Given the description of an element on the screen output the (x, y) to click on. 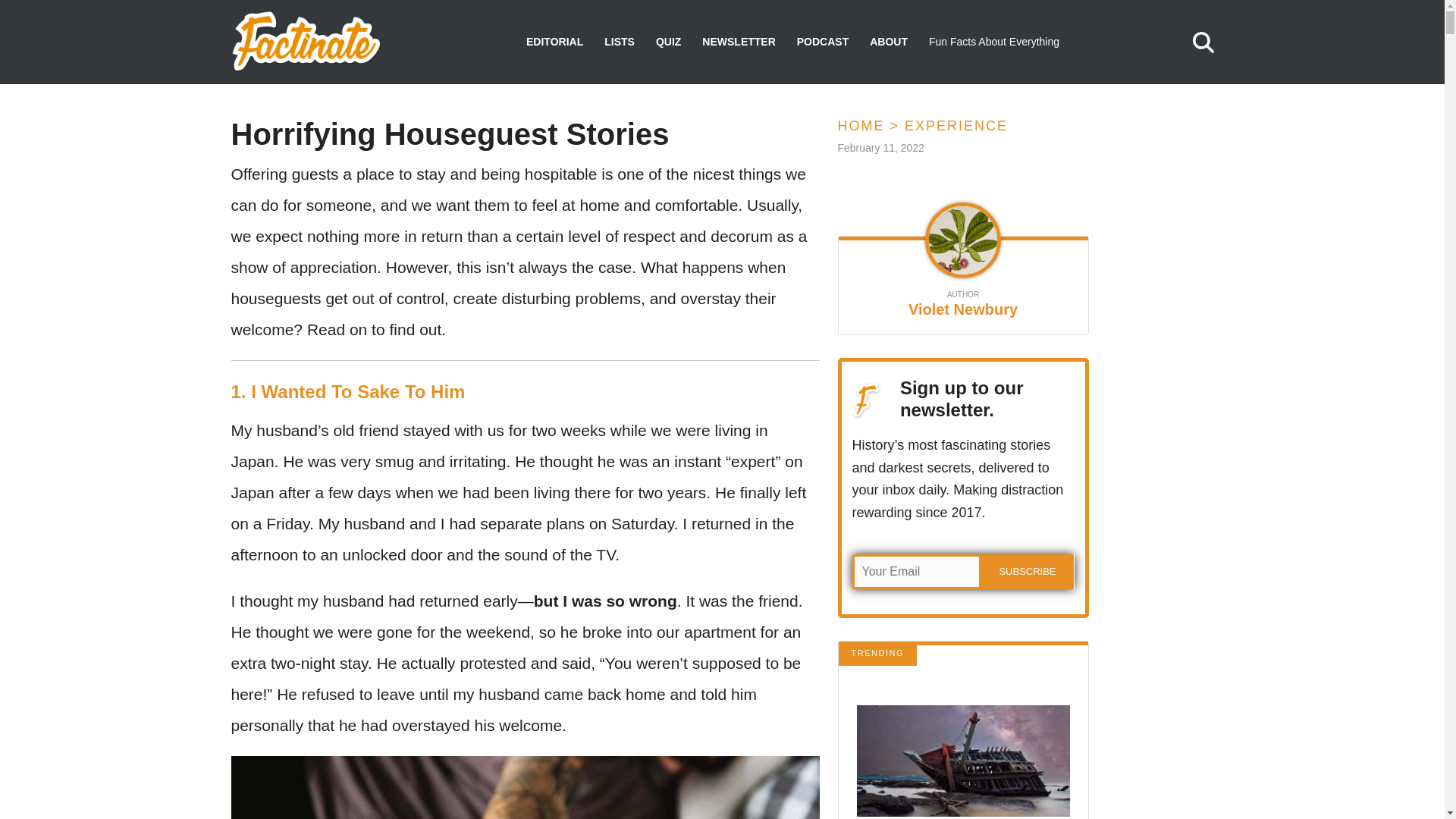
QUIZ (668, 41)
NEWSLETTER (737, 41)
EDITORIAL (554, 41)
LISTS (619, 41)
PODCAST (822, 41)
ABOUT (888, 41)
